Given the description of an element on the screen output the (x, y) to click on. 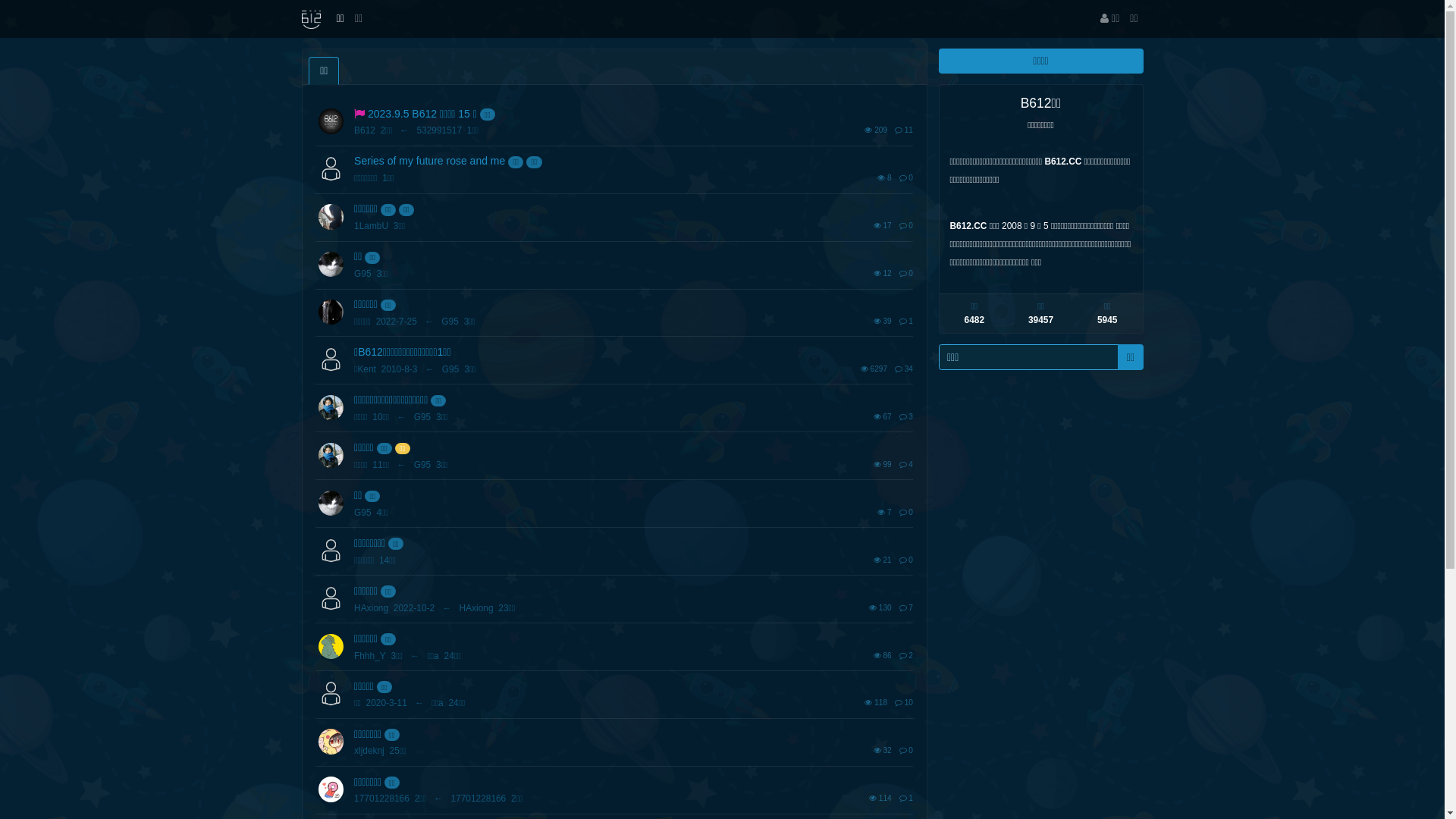
Series of my future rose and me Element type: text (429, 160)
